Given the description of an element on the screen output the (x, y) to click on. 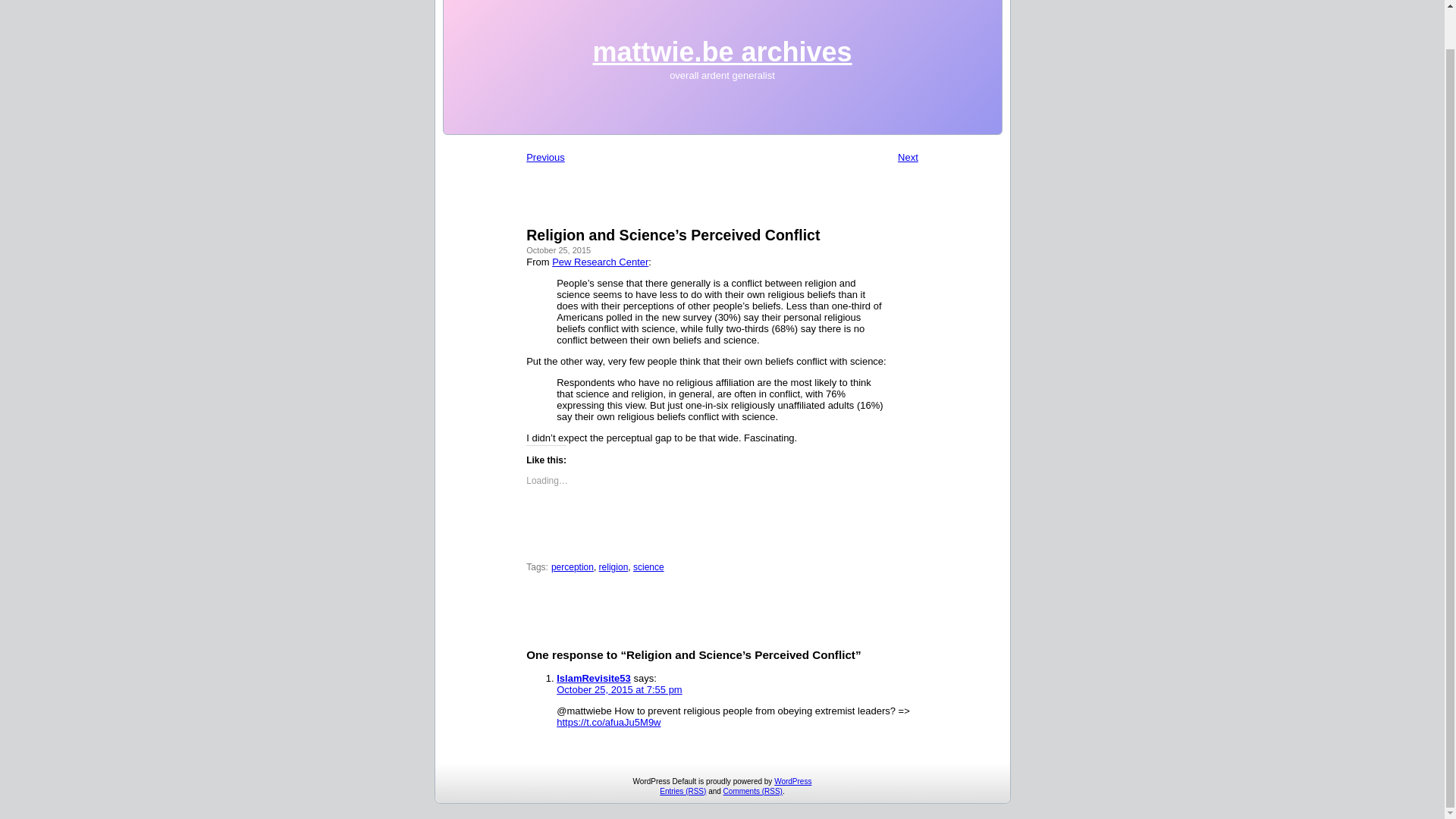
Like or Reblog (721, 536)
Pew Research Center (599, 261)
mattwie.be archives (721, 51)
religion (613, 566)
IslamRevisite53 (593, 677)
Next (908, 156)
WordPress (792, 781)
October 25, 2015 at 7:55 pm (619, 689)
perception (572, 566)
science (648, 566)
Previous (544, 156)
